Given the description of an element on the screen output the (x, y) to click on. 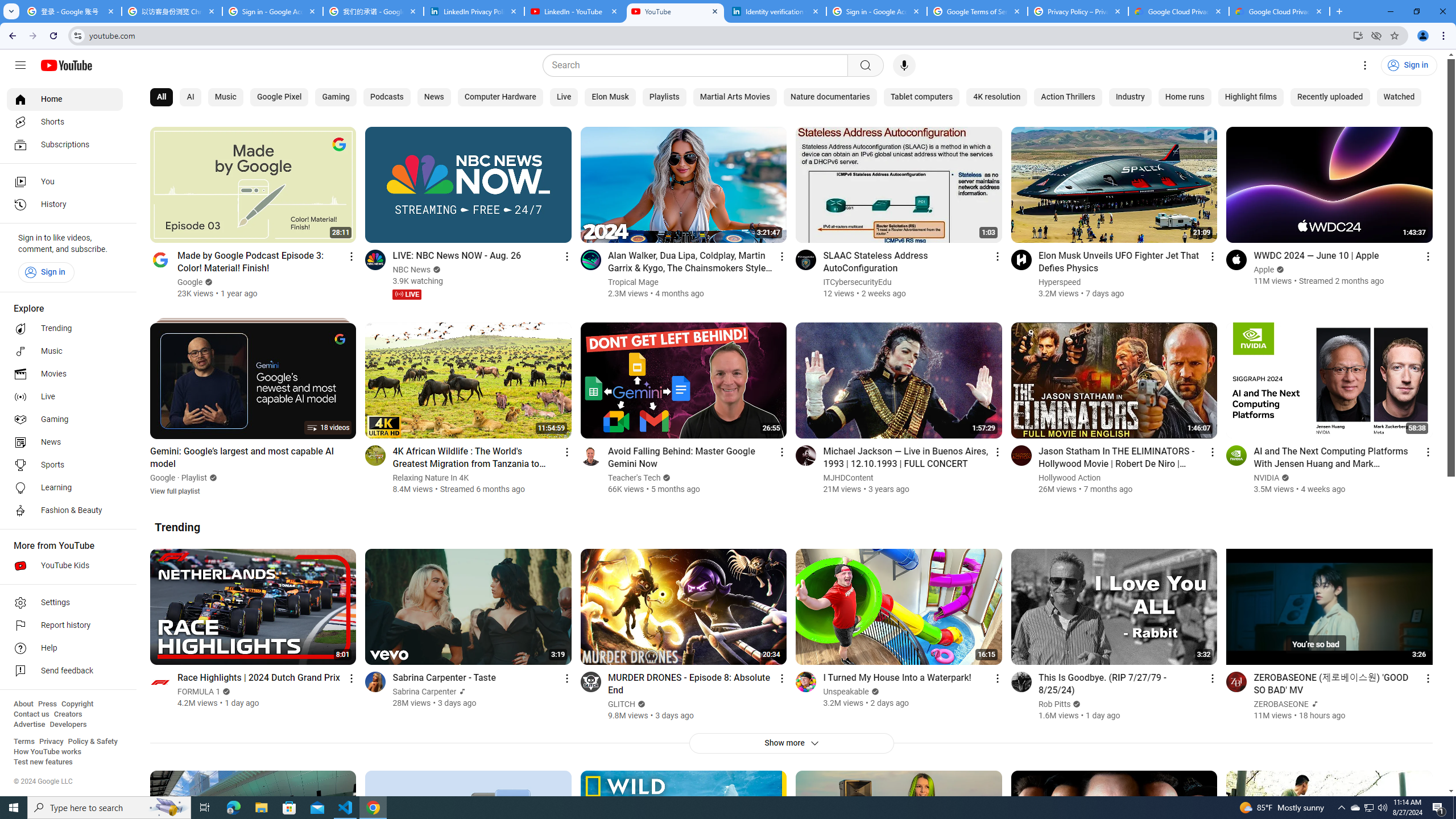
Podcasts (387, 97)
YouTube Kids (64, 565)
Recently uploaded (1330, 97)
View full playlist (174, 490)
Policy & Safety (91, 741)
Advertise (29, 724)
Subscriptions (64, 144)
Highlight films (1250, 97)
